Given the description of an element on the screen output the (x, y) to click on. 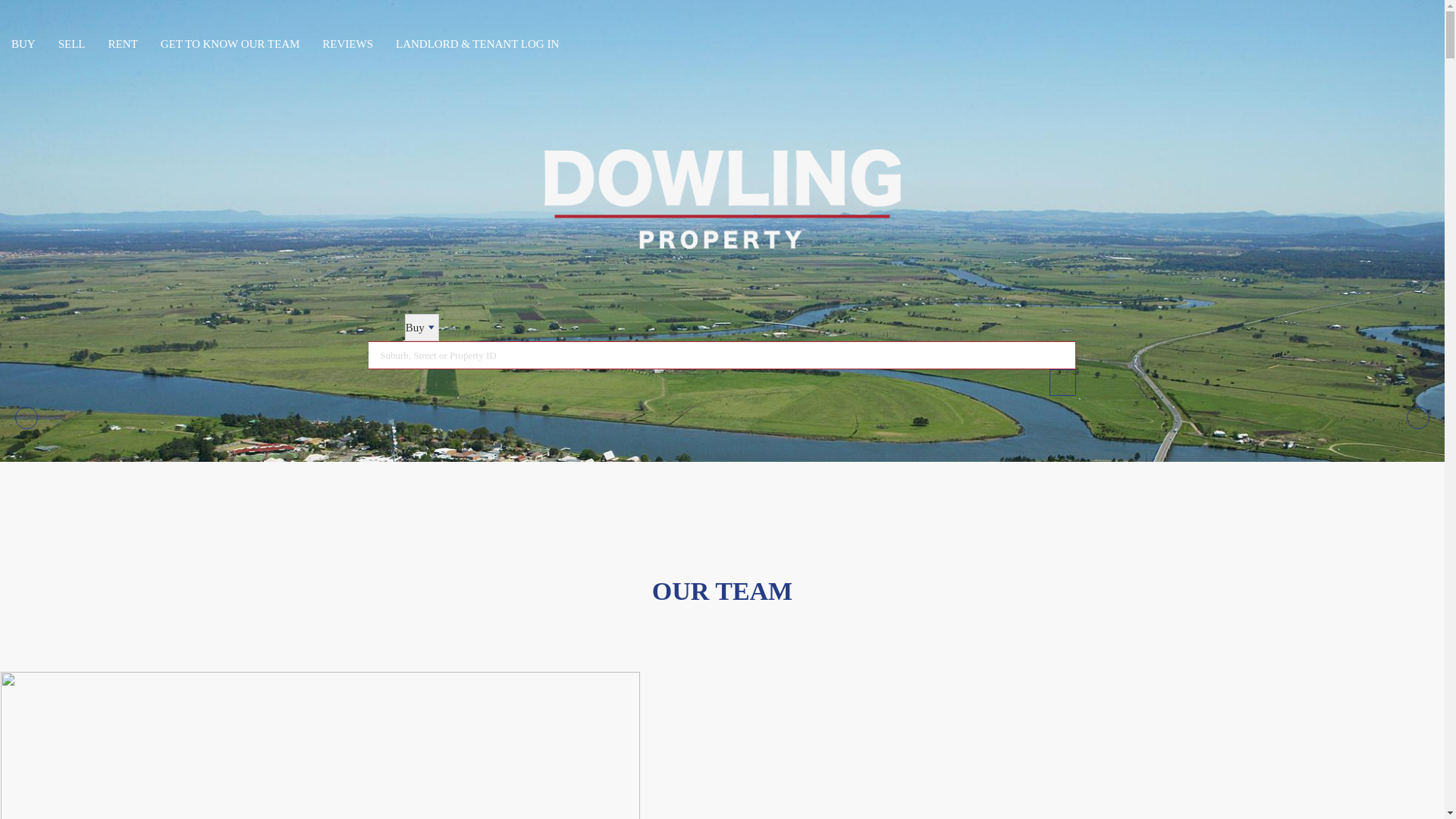
GET TO KNOW OUR TEAM Element type: text (230, 44)
RENT Element type: text (123, 44)
SELL Element type: text (72, 44)
REVIEWS Element type: text (347, 44)
BUY Element type: text (23, 44)
LANDLORD & TENANT LOG IN Element type: text (477, 44)
